Given the description of an element on the screen output the (x, y) to click on. 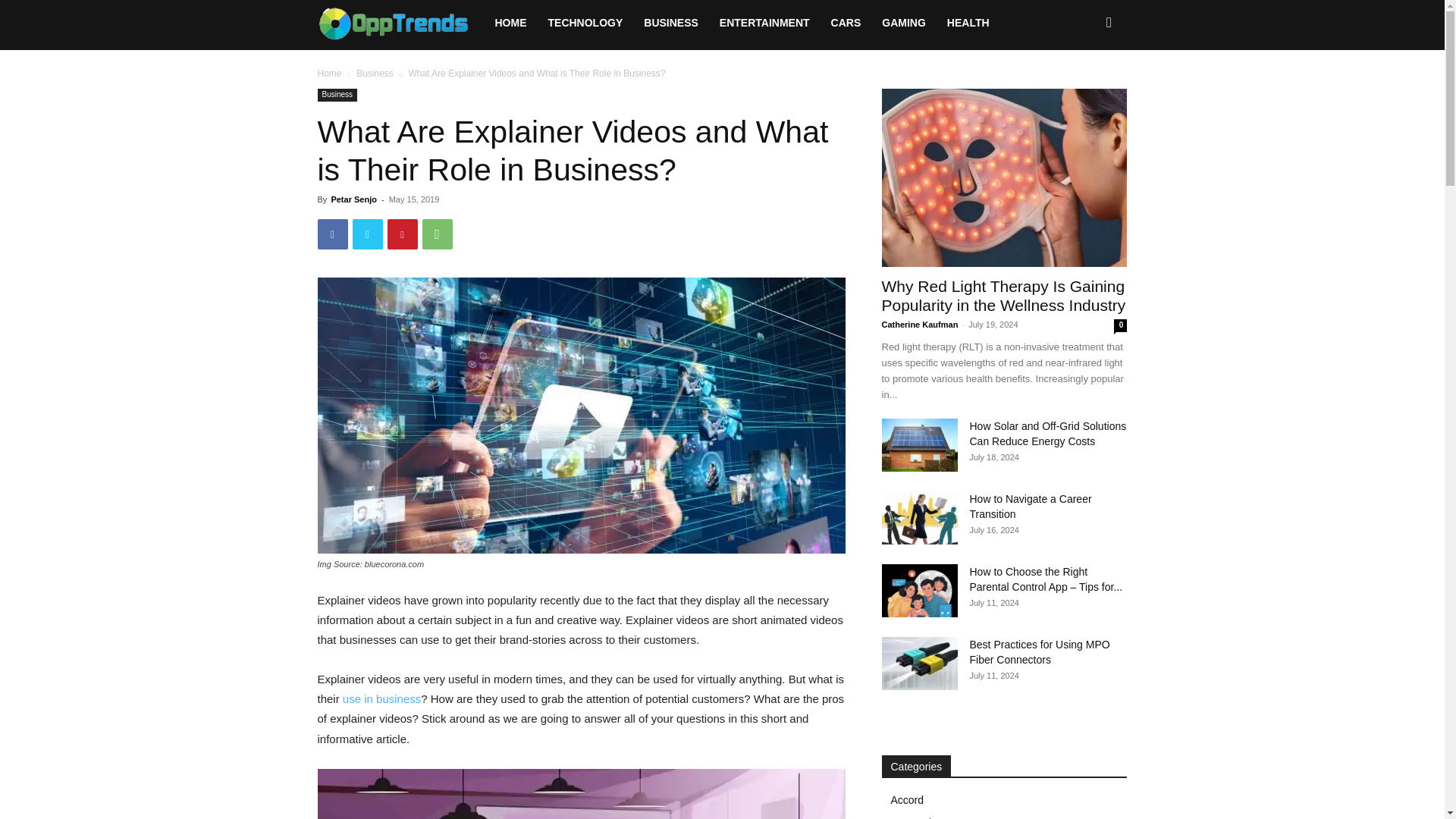
ENTERTAINMENT (765, 22)
HEALTH (968, 22)
CARS (846, 22)
HOME (510, 22)
BUSINESS (671, 22)
Pinterest (401, 234)
Business (336, 94)
TECHNOLOGY (585, 22)
use in business (381, 698)
Business (374, 72)
GAMING (903, 22)
Facebook (332, 234)
Home (328, 72)
Petar Senjo (353, 198)
